Given the description of an element on the screen output the (x, y) to click on. 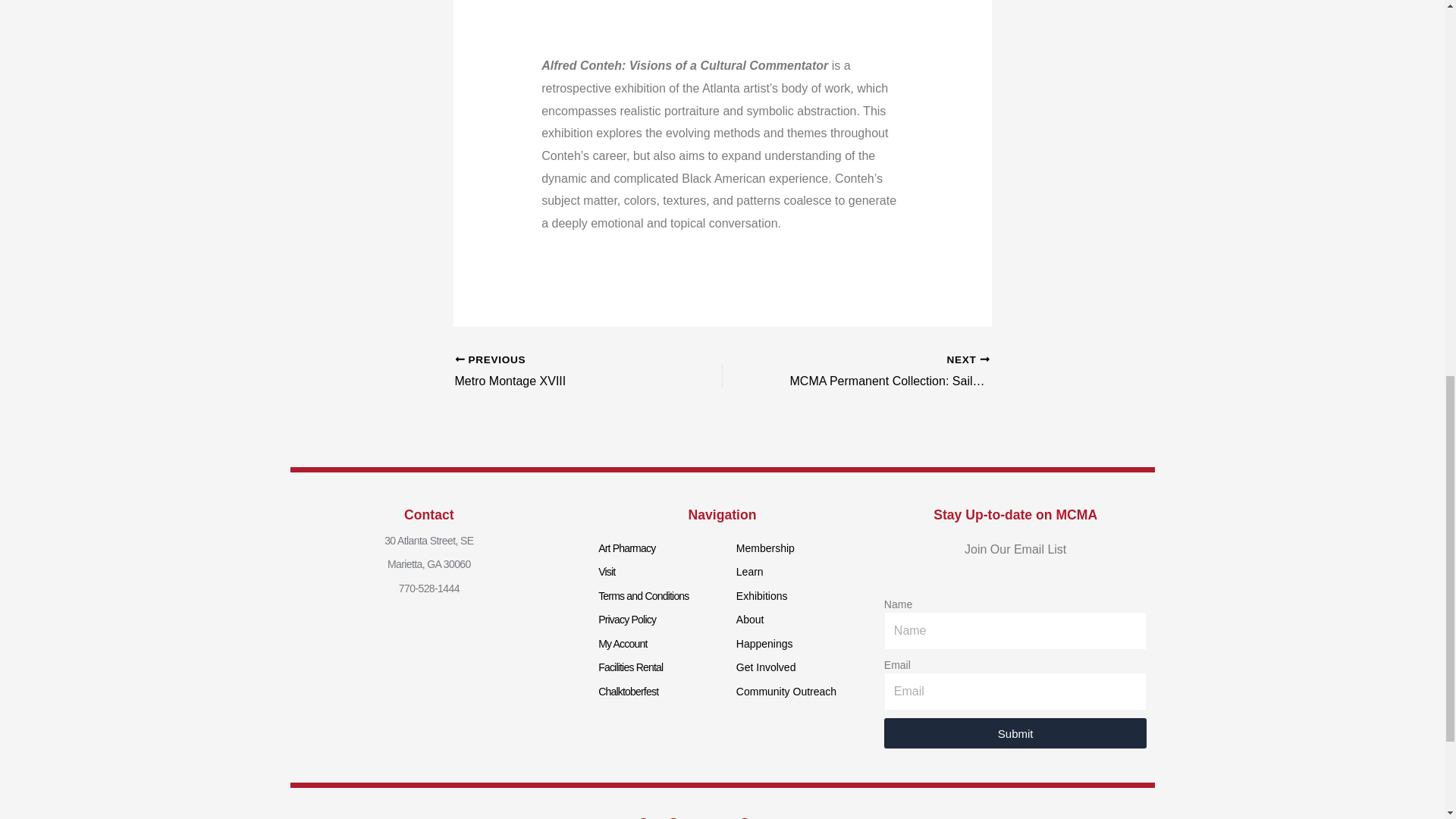
Facilities Rental (630, 666)
Privacy Policy (627, 619)
Metro Montage XVIII (561, 372)
My Account (561, 372)
Membership (622, 643)
Terms and Conditions (765, 547)
Art Pharmacy (643, 595)
Visit (626, 547)
Chalktoberfest (606, 571)
